Given the description of an element on the screen output the (x, y) to click on. 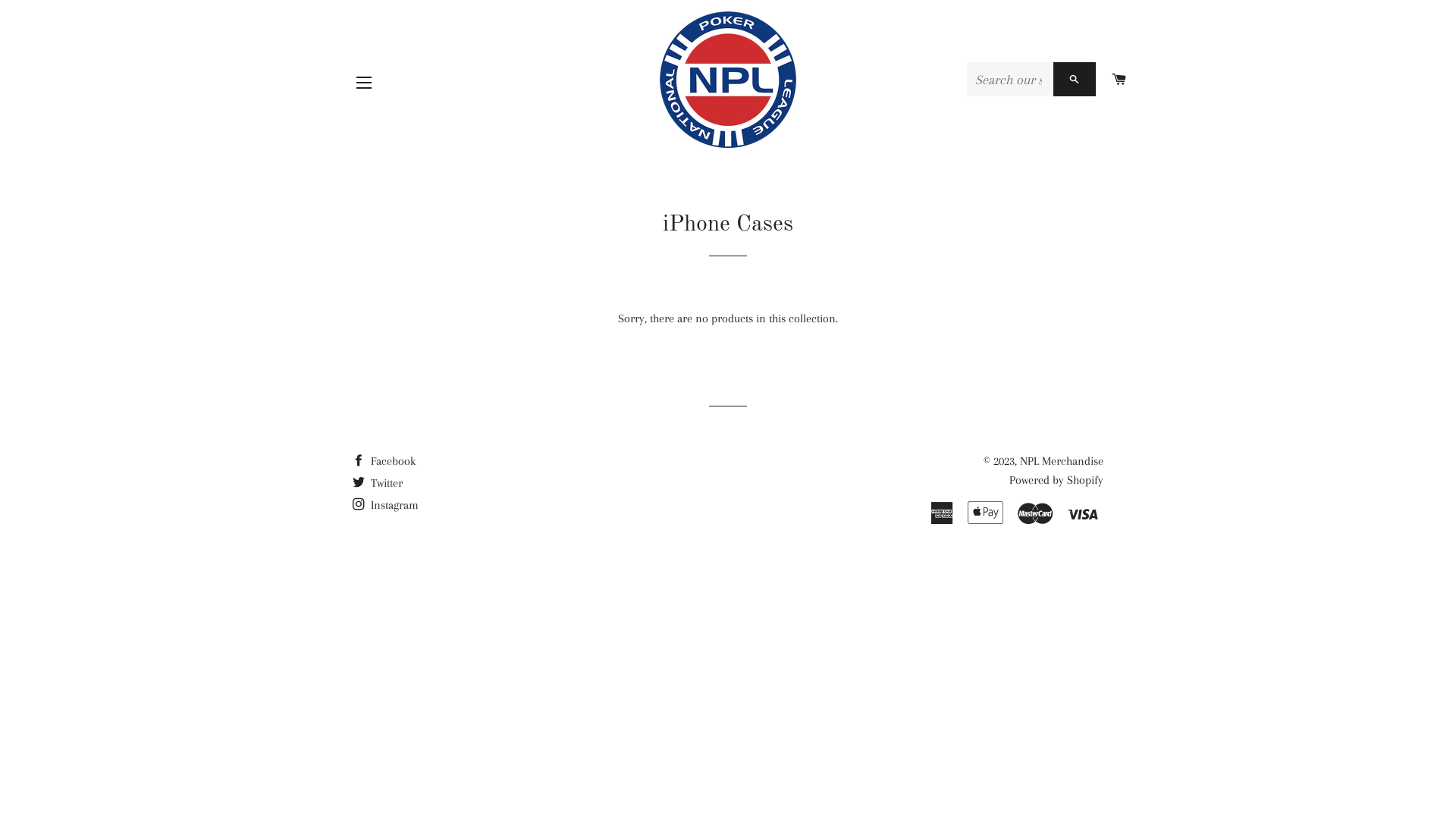
NPL Merchandise Element type: text (1061, 460)
Twitter Element type: text (377, 482)
SITE NAVIGATION Element type: text (363, 82)
Powered by Shopify Element type: text (1056, 479)
CART Element type: text (1119, 79)
Instagram Element type: text (385, 504)
SEARCH Element type: text (1074, 79)
Facebook Element type: text (383, 460)
